Given the description of an element on the screen output the (x, y) to click on. 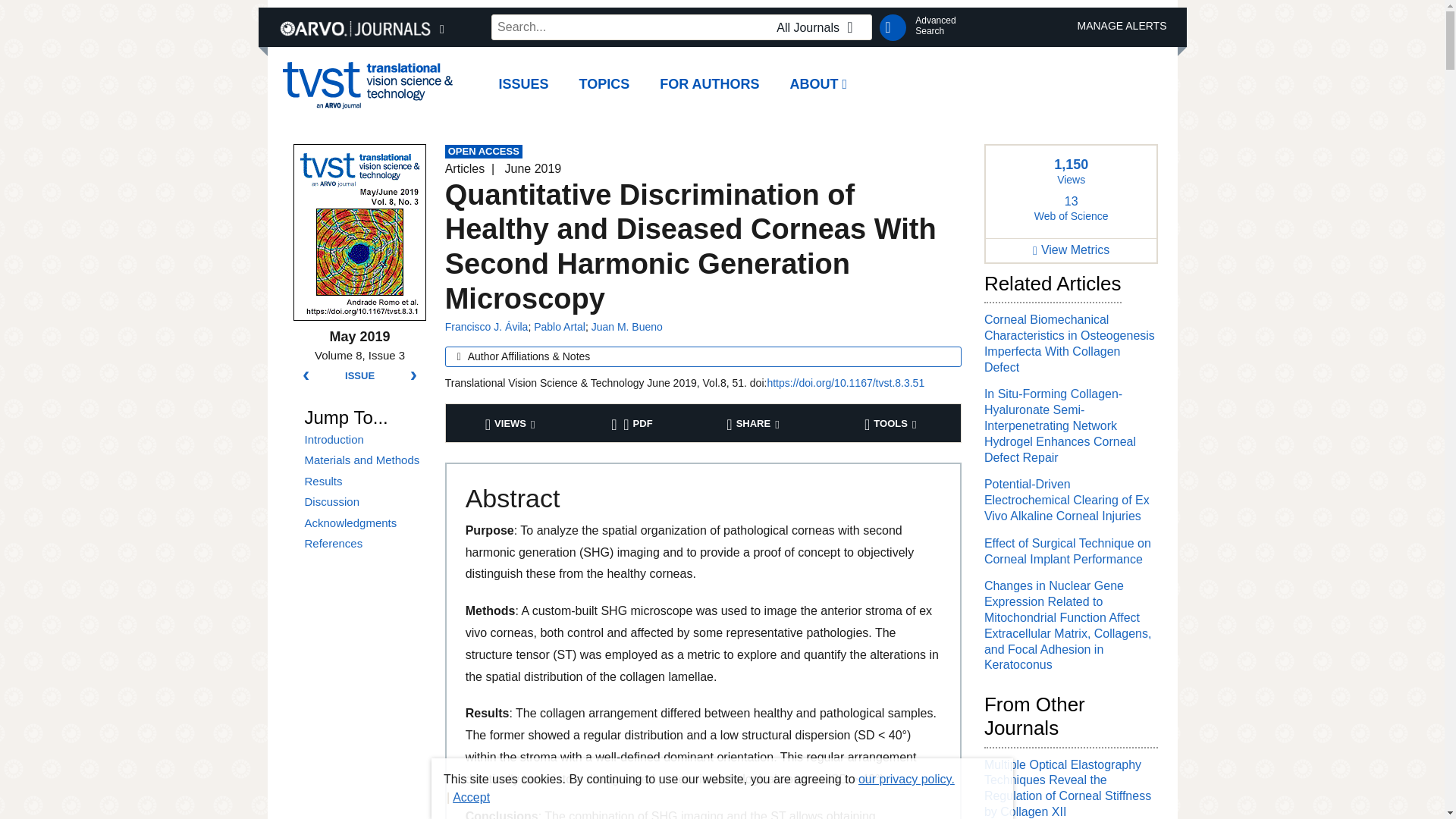
Acknowledgments (362, 522)
Acknowledgments (362, 522)
References (935, 25)
ABOUT (362, 543)
Results (818, 84)
TOPICS (362, 481)
Pablo Artal (604, 84)
All Journals (559, 326)
Discussion (819, 27)
Introduction (362, 501)
Results (362, 439)
References (362, 481)
Introduction (362, 543)
ISSUES (362, 439)
